Given the description of an element on the screen output the (x, y) to click on. 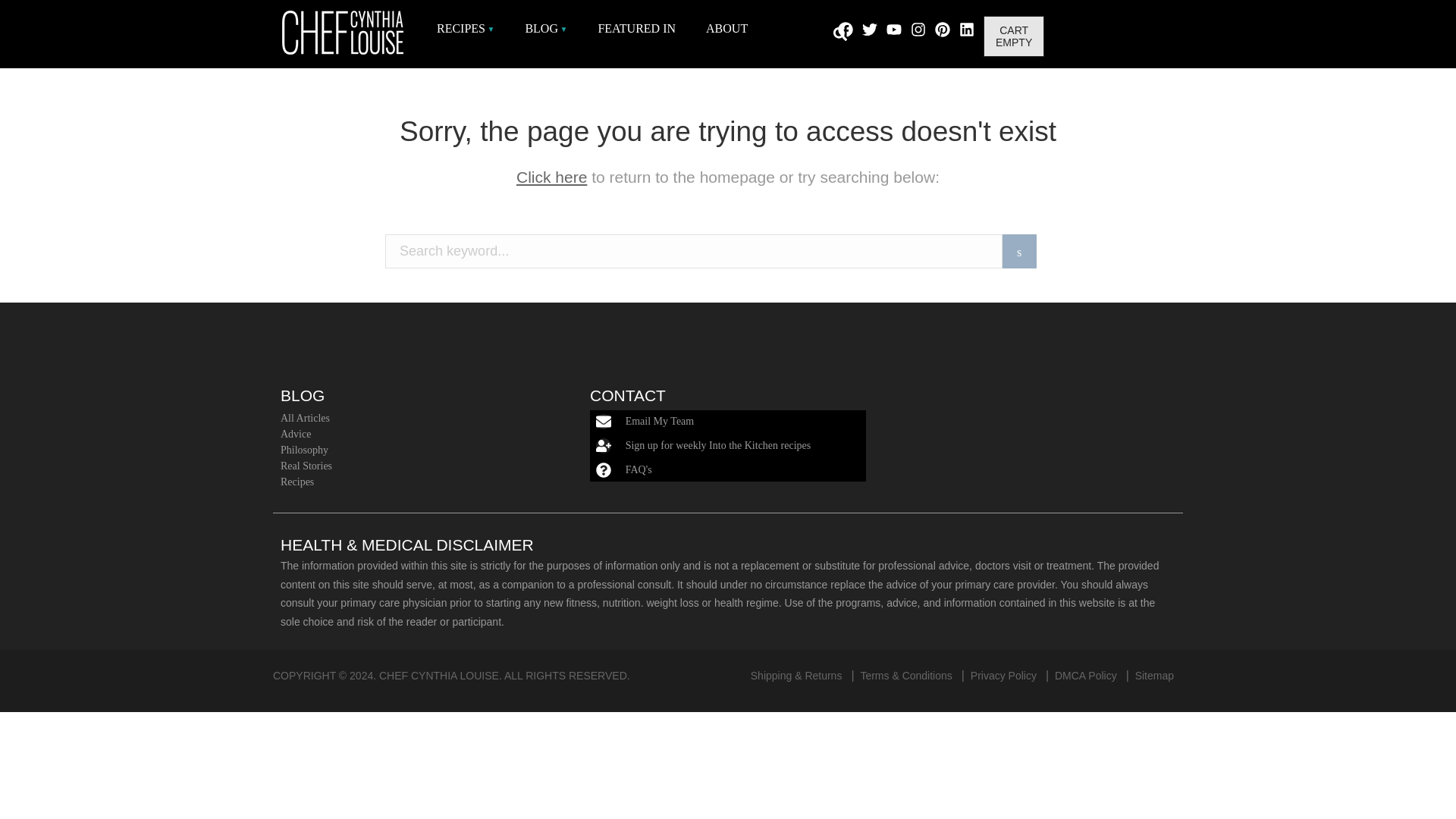
All Articles (415, 417)
BLOG (545, 28)
DMCA Policy (1085, 675)
Sign up for weekly Into the Kitchen recipes (718, 445)
FEATURED IN (635, 28)
CART EMPTY (1013, 35)
Email My Team (660, 420)
Privacy Policy (1003, 675)
RECIPES (465, 28)
FAQ's (639, 469)
ABOUT (727, 28)
Sitemap (1154, 675)
Real Stories (415, 465)
Recipes (415, 481)
Click here (551, 176)
